Given the description of an element on the screen output the (x, y) to click on. 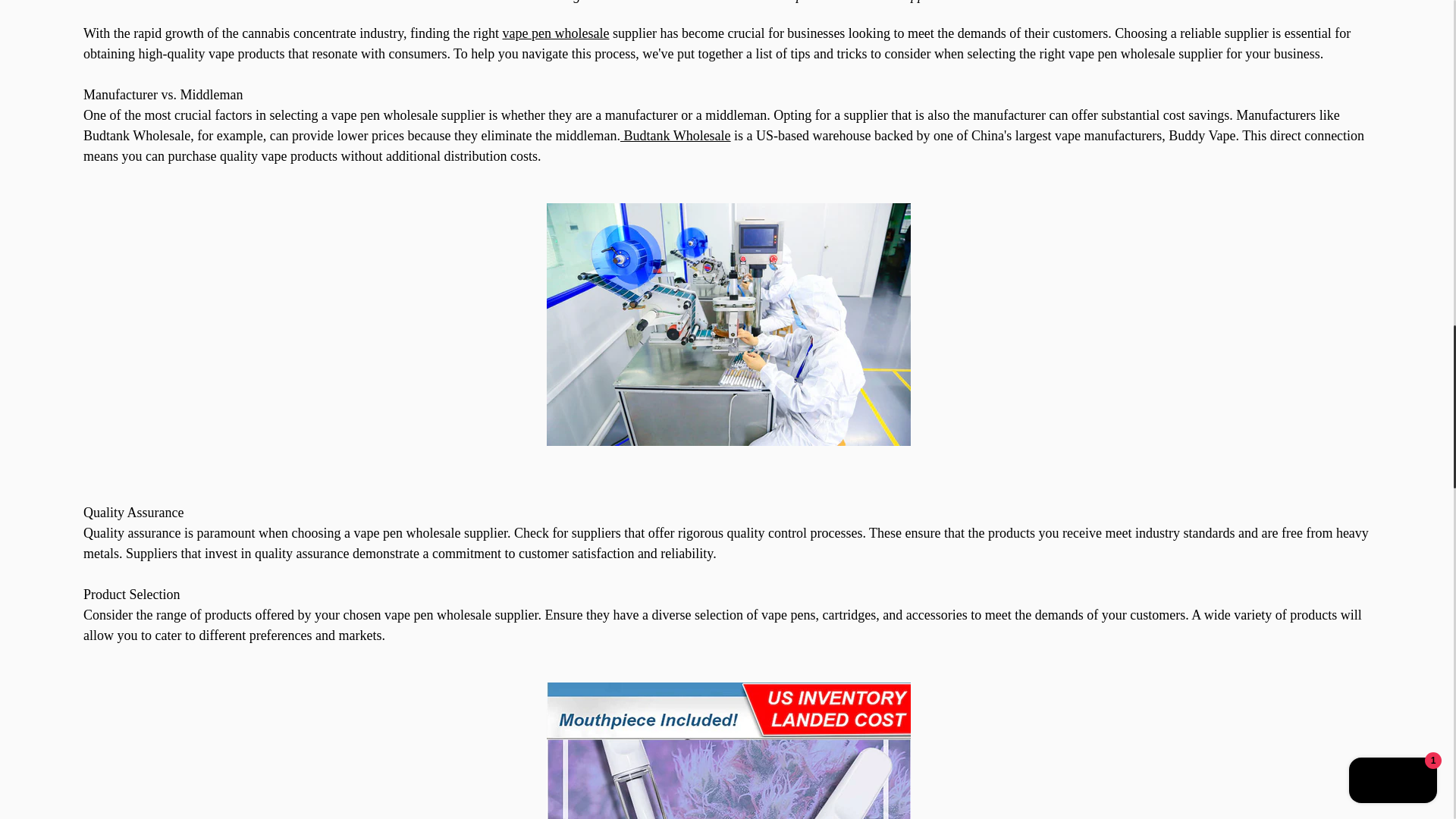
Vape pen wholesale near me (556, 32)
Budtank Wholesale (675, 135)
vape pen wholesale (556, 32)
Best Vape Pen Wholesaler (675, 135)
